Given the description of an element on the screen output the (x, y) to click on. 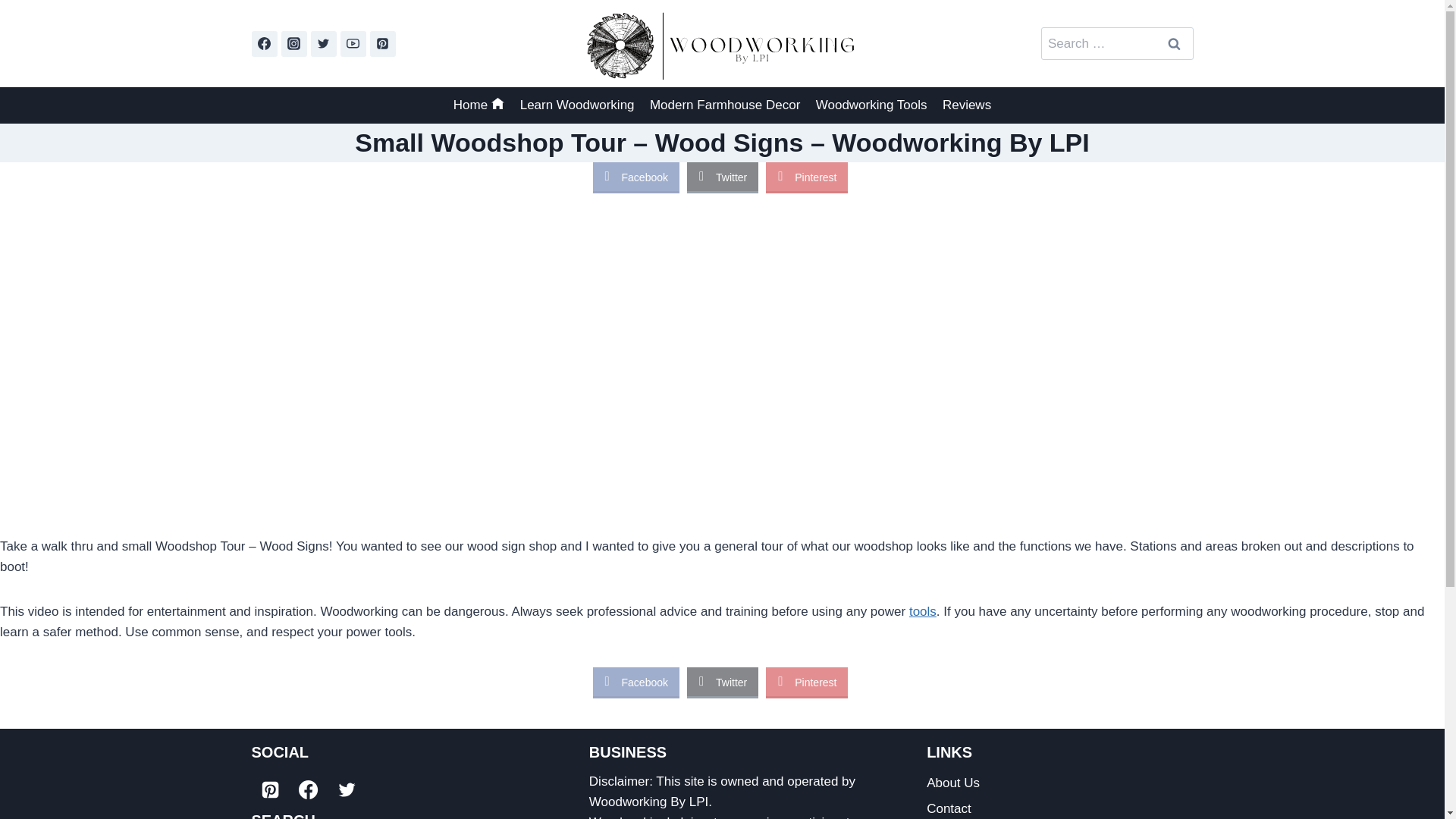
tools (922, 611)
Learn Woodworking (577, 104)
Pinterest (806, 681)
Twitter (722, 681)
Contact (1059, 807)
Woodworking Tools (871, 104)
About Us (1059, 783)
Search (1174, 43)
Facebook (635, 681)
Pinterest (806, 176)
